Given the description of an element on the screen output the (x, y) to click on. 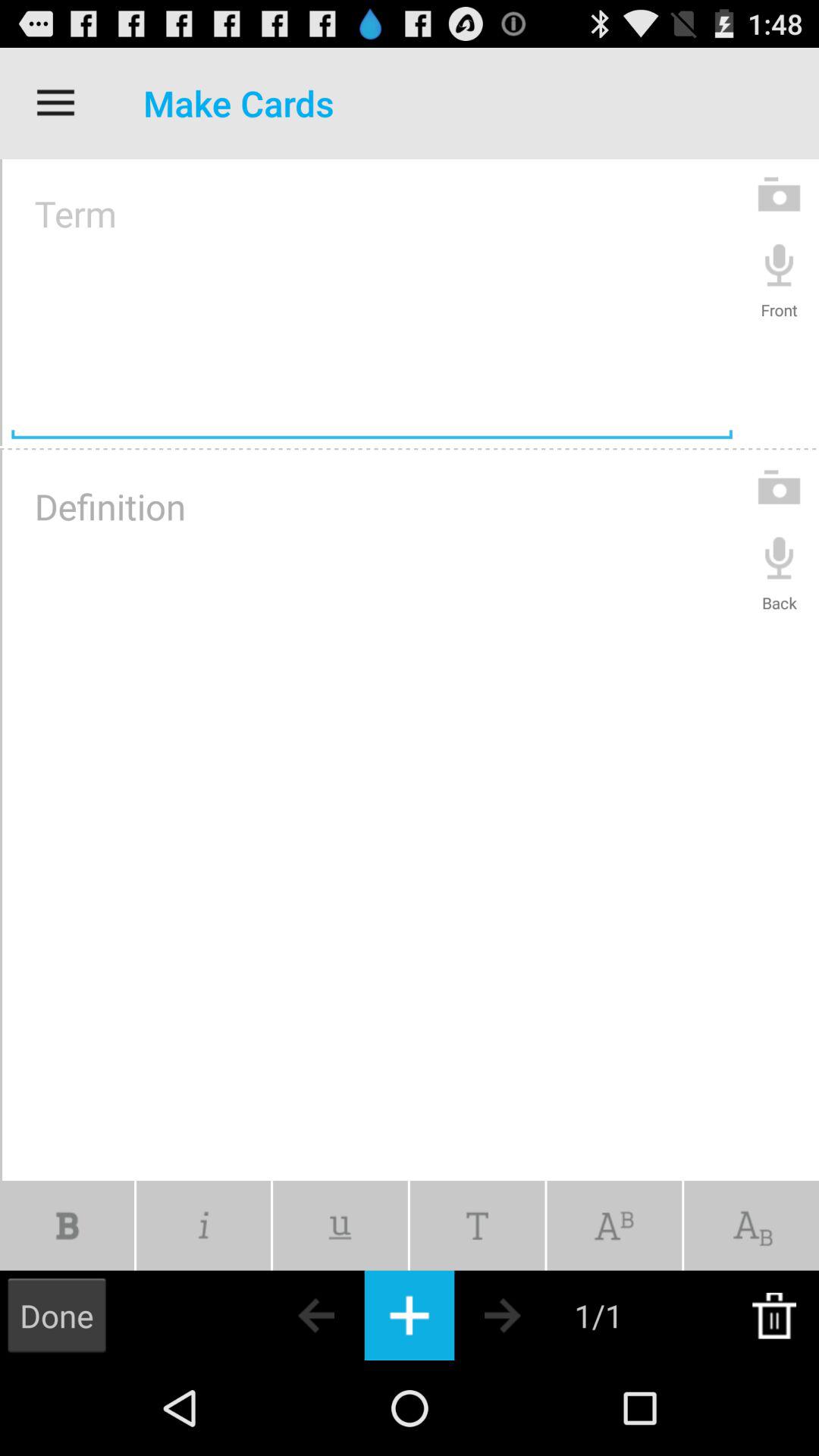
change text font for cards (477, 1225)
